Given the description of an element on the screen output the (x, y) to click on. 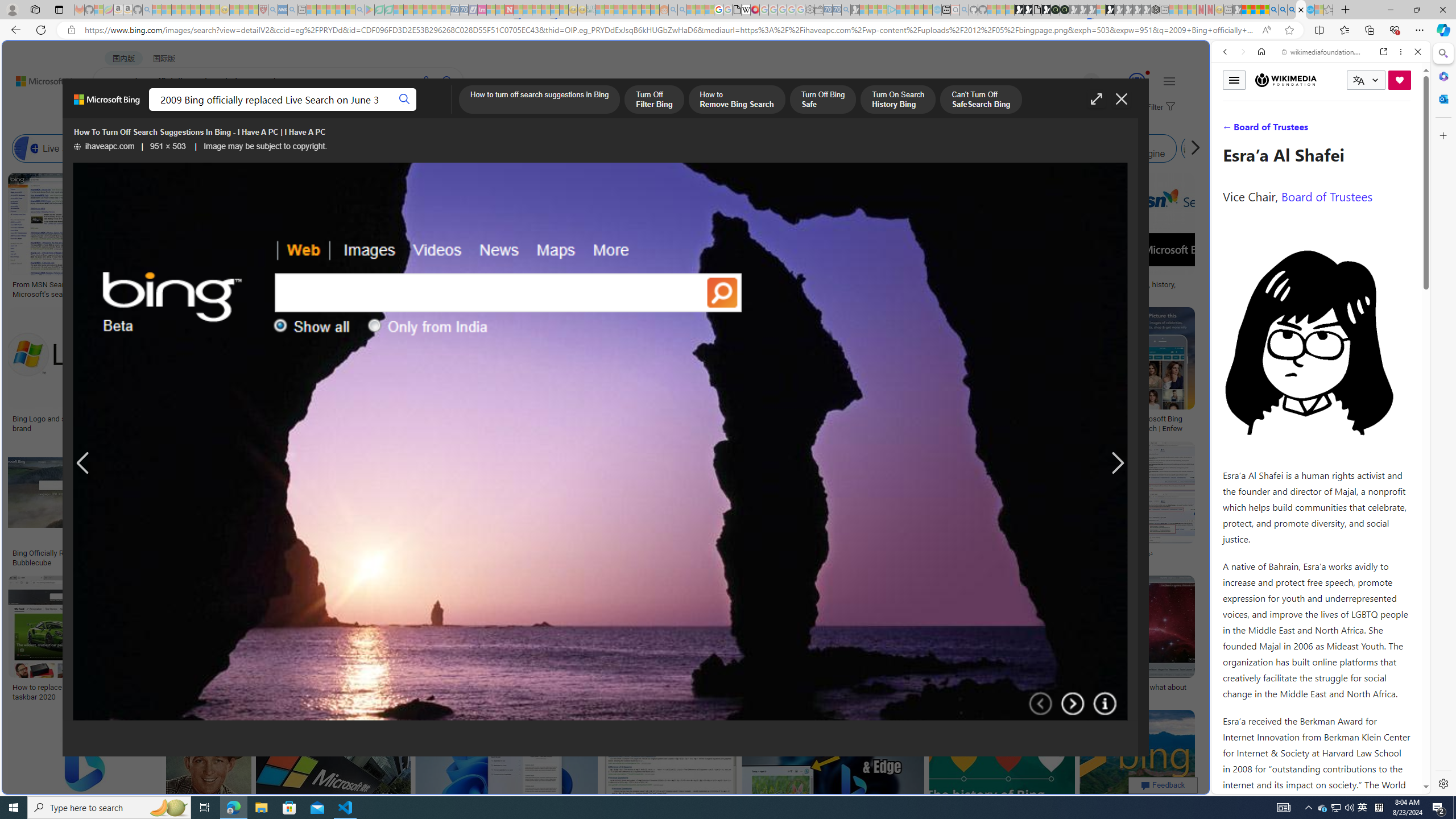
MSNBC - MSN - Sleeping (600, 9)
AutomationID: serp_medal_svg (1136, 81)
Class: i icon icon-translate language-switcher__icon (1358, 80)
ihaveapc.com (104, 146)
Microsoft Bing Search | Enfew (1162, 423)
Toggle menu (1233, 80)
Bing Voice Search (156, 148)
